Given the description of an element on the screen output the (x, y) to click on. 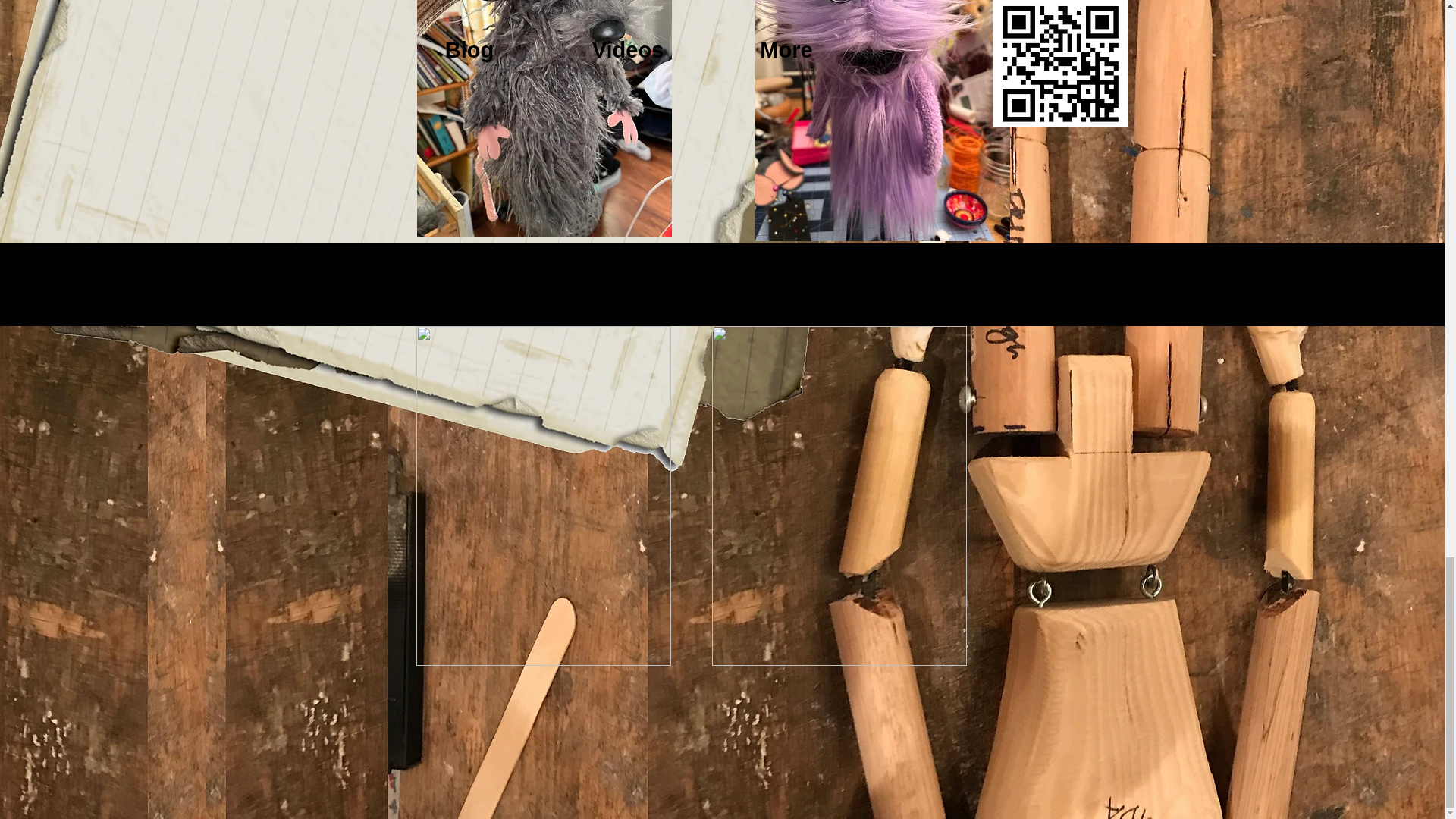
Rat.jpeg (543, 118)
